Given the description of an element on the screen output the (x, y) to click on. 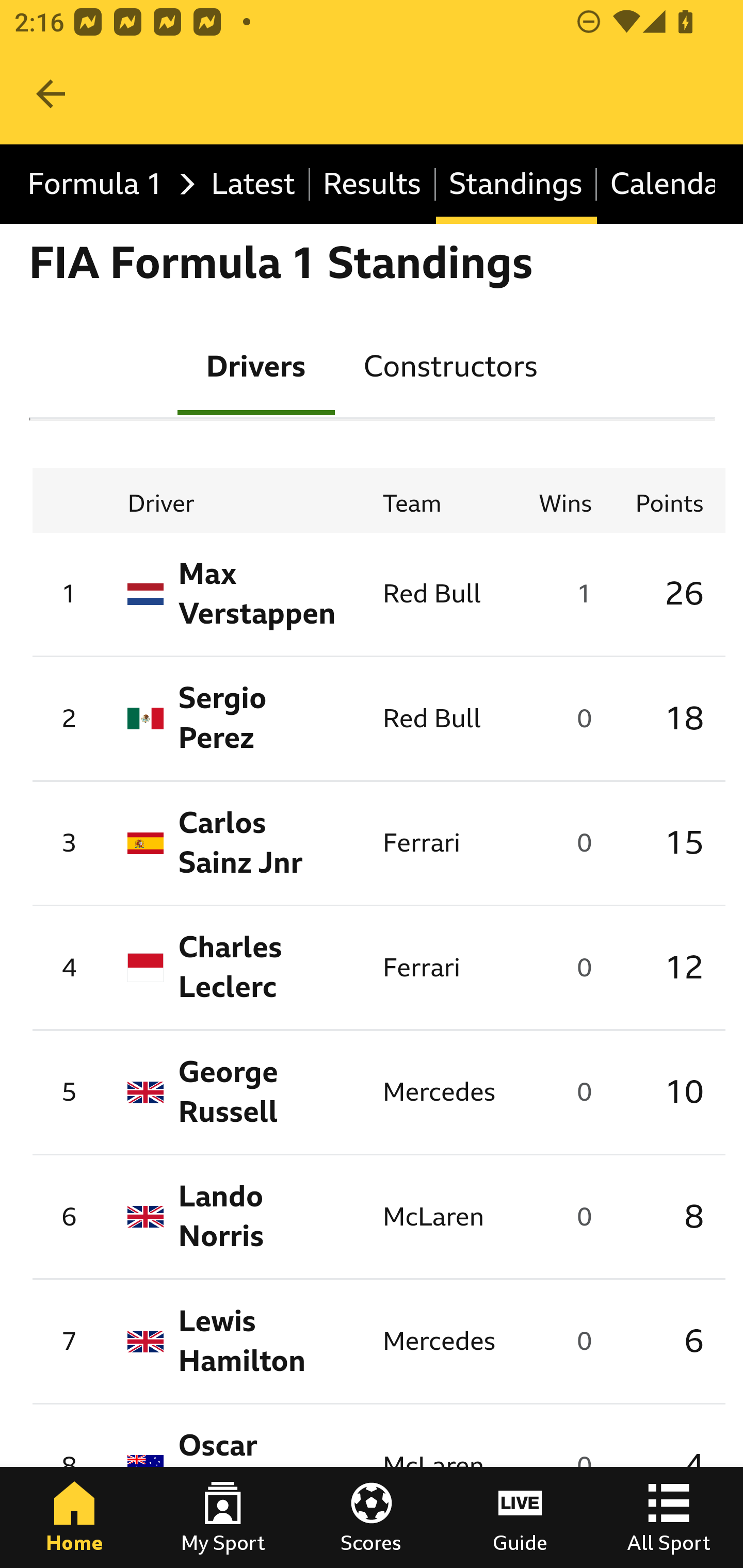
Navigate up (50, 93)
Formula 1 (106, 184)
Latest (253, 184)
Results (372, 184)
Standings (515, 184)
Calendar (655, 184)
Drivers (255, 365)
Constructors (449, 365)
My Sport (222, 1517)
Scores (371, 1517)
Guide (519, 1517)
All Sport (668, 1517)
